Given the description of an element on the screen output the (x, y) to click on. 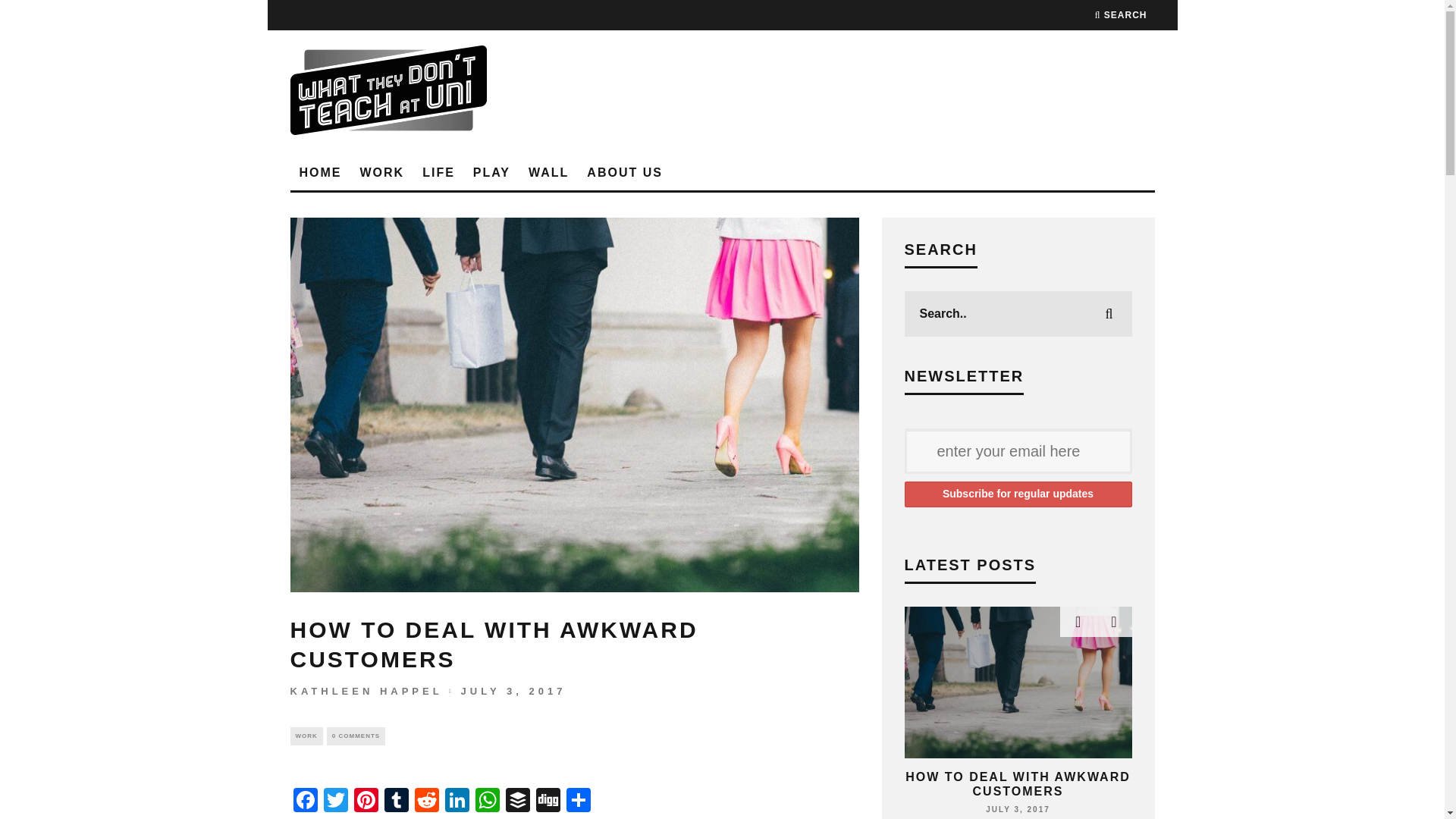
Pinterest (365, 801)
SEARCH (1120, 15)
HOME (319, 173)
Facebook (304, 801)
WhatsApp (486, 801)
View all posts in Work (305, 735)
PLAY (491, 173)
LIFE (438, 173)
Subscribe for regular updates (1017, 493)
Digg (547, 801)
